Given the description of an element on the screen output the (x, y) to click on. 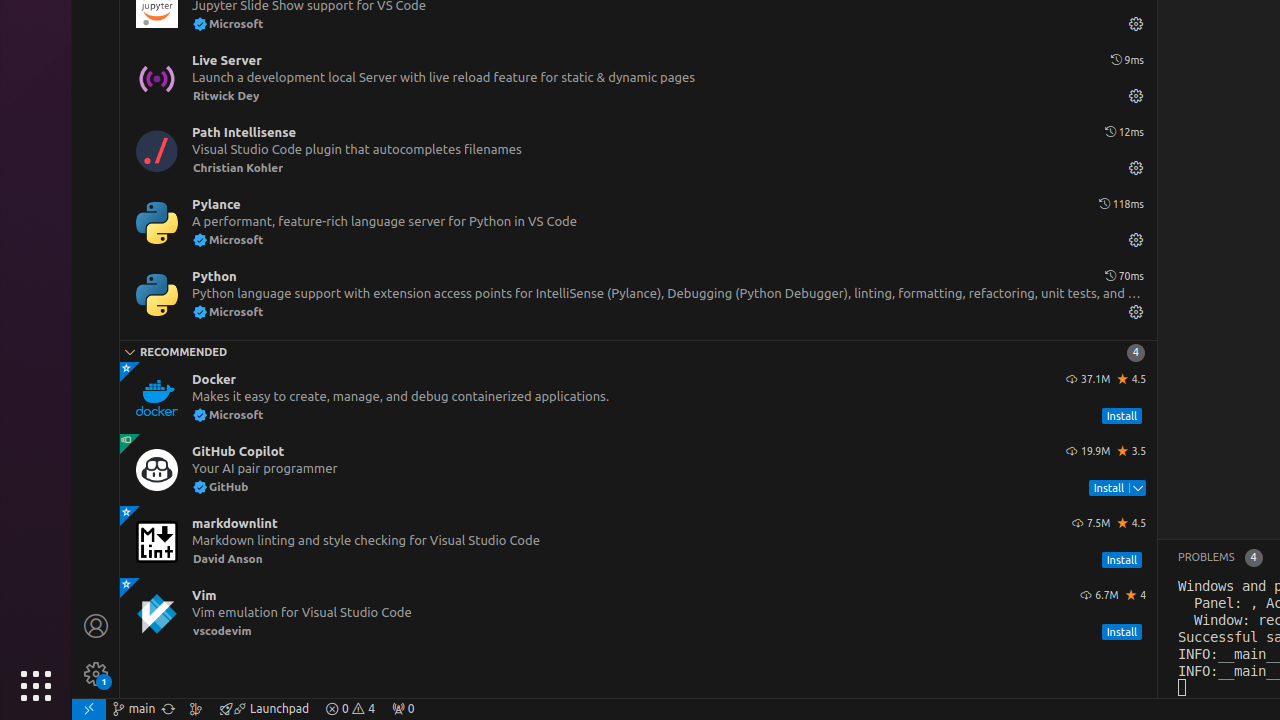
Problems (Ctrl+Shift+M) - Total 4 Problems Element type: page-tab (1219, 557)
No Ports Forwarded Element type: push-button (403, 709)
Path Intellisense, 2.9.0, Publisher Christian Kohler, Visual Studio Code plugin that autocompletes filenames , Rated 4.84 out of 5 stars by 121 users Element type: list-item (638, 150)
remote Element type: push-button (89, 709)
OSWorld (Git) - Synchronize Changes Element type: push-button (168, 709)
